Given the description of an element on the screen output the (x, y) to click on. 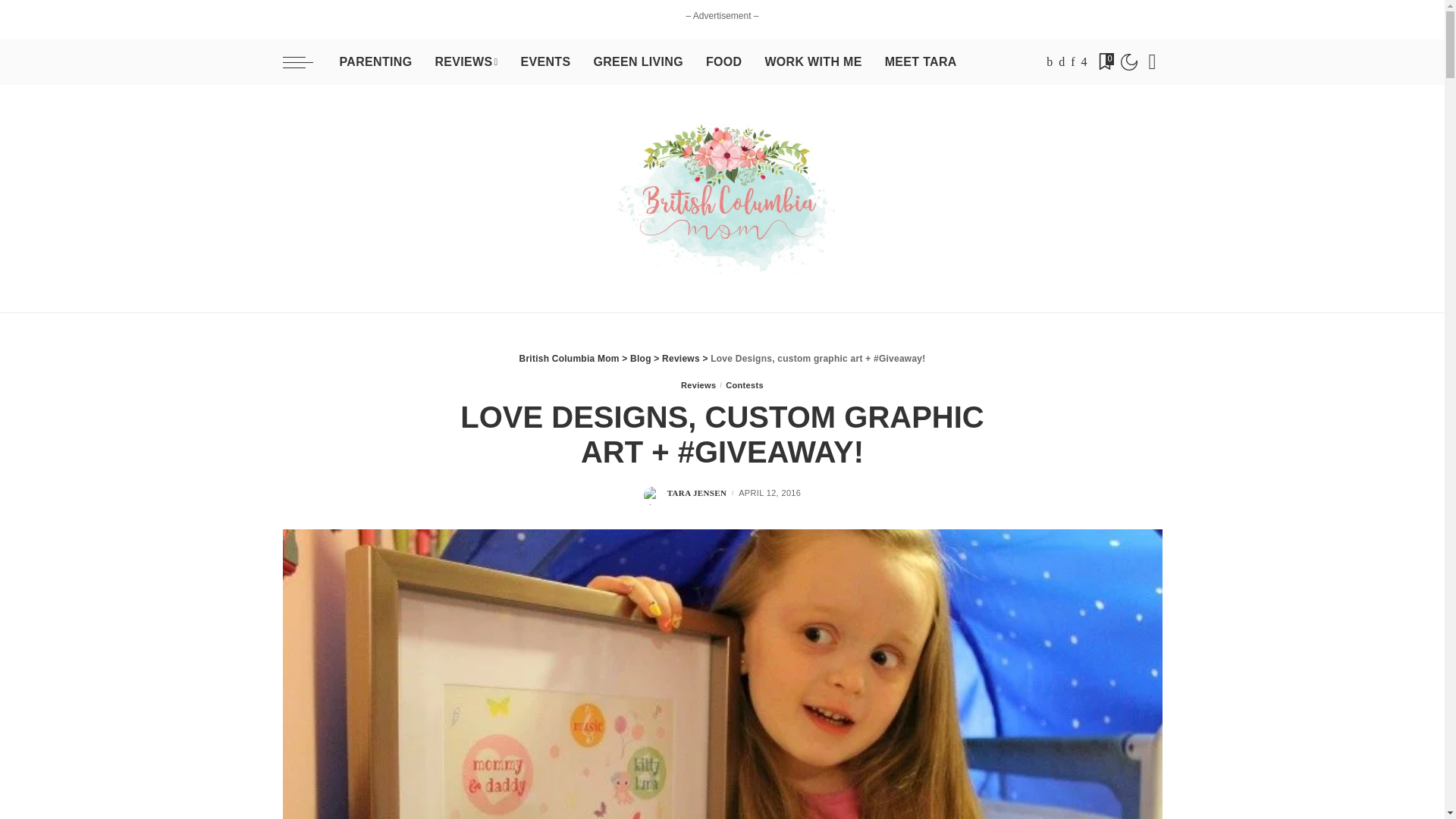
MEET TARA (920, 62)
WORK WITH ME (812, 62)
PARENTING (375, 62)
REVIEWS (465, 62)
GREEN LIVING (637, 62)
British Columbia Mom (722, 198)
FOOD (724, 62)
EVENTS (544, 62)
